Given the description of an element on the screen output the (x, y) to click on. 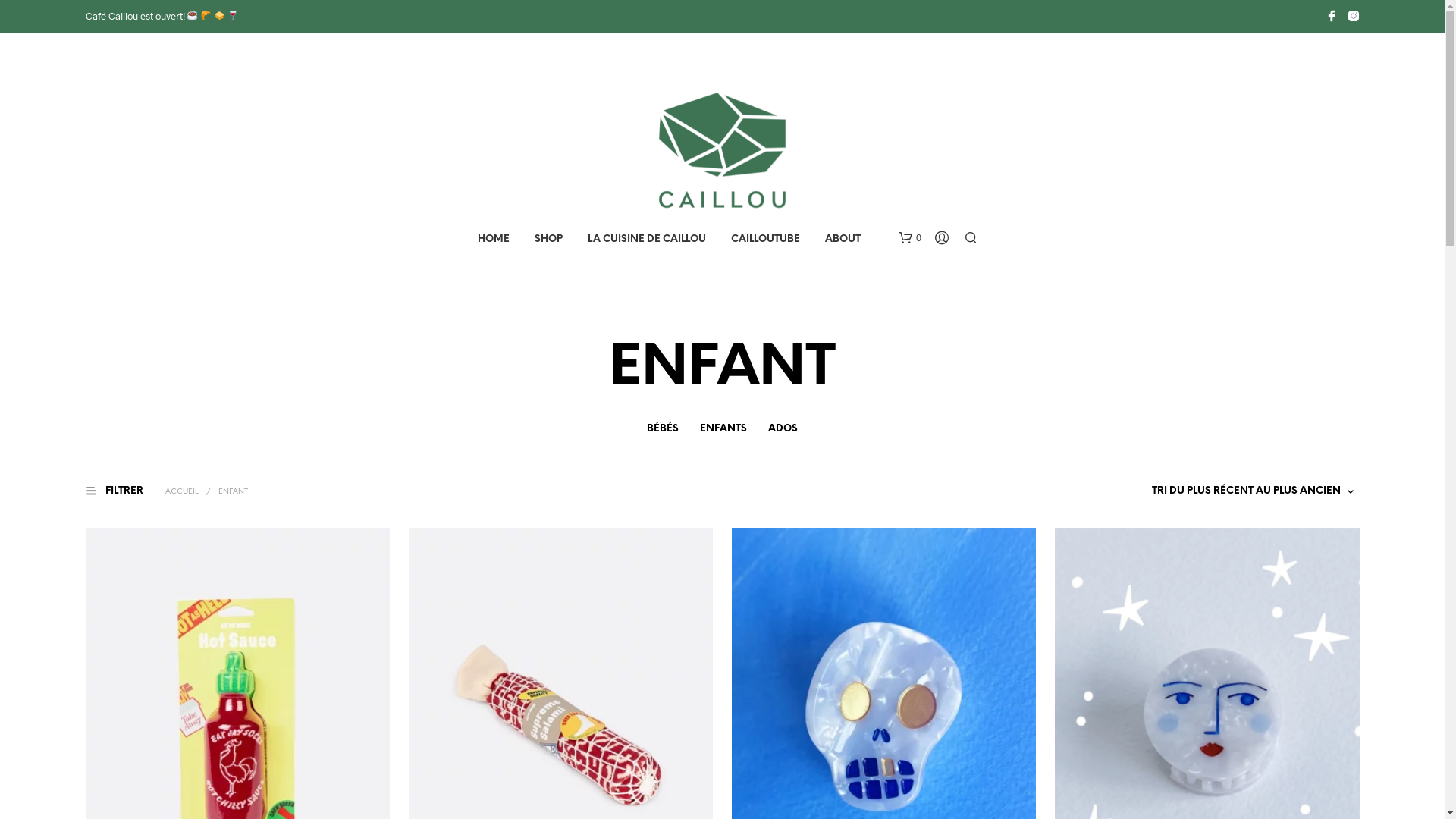
ENFANTS Element type: text (722, 429)
HOME Element type: text (492, 239)
CAILLOUTUBE Element type: text (764, 239)
ADOS Element type: text (782, 429)
0 Element type: text (908, 237)
SHOP Element type: text (548, 239)
ACCUEIL Element type: text (181, 491)
LA CUISINE DE CAILLOU Element type: text (646, 239)
ABOUT Element type: text (841, 239)
